Given the description of an element on the screen output the (x, y) to click on. 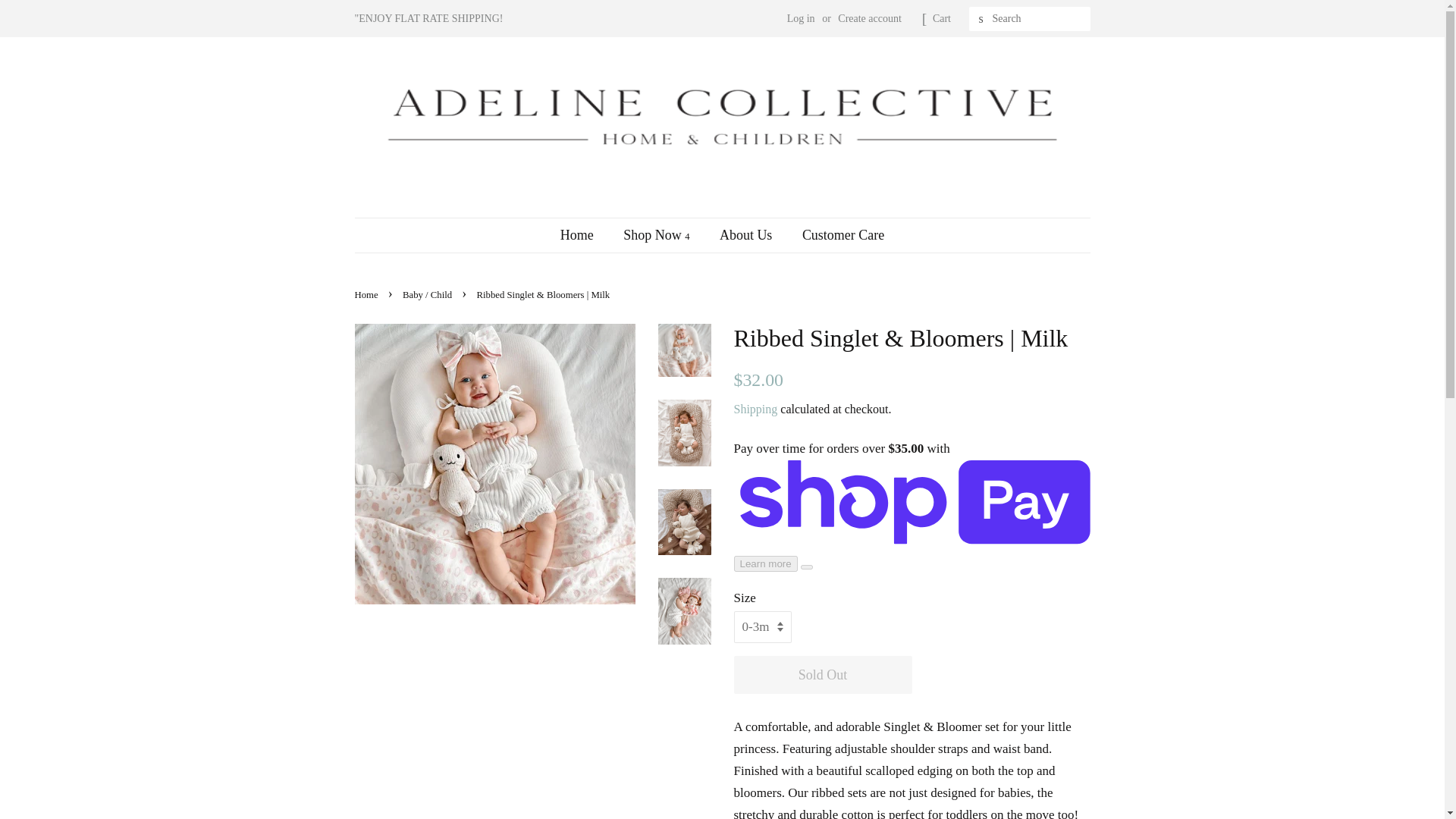
Cart (941, 18)
Log in (801, 18)
Home (584, 235)
Search (980, 18)
Create account (869, 18)
Shop Now (657, 235)
Back to the frontpage (368, 294)
